Given the description of an element on the screen output the (x, y) to click on. 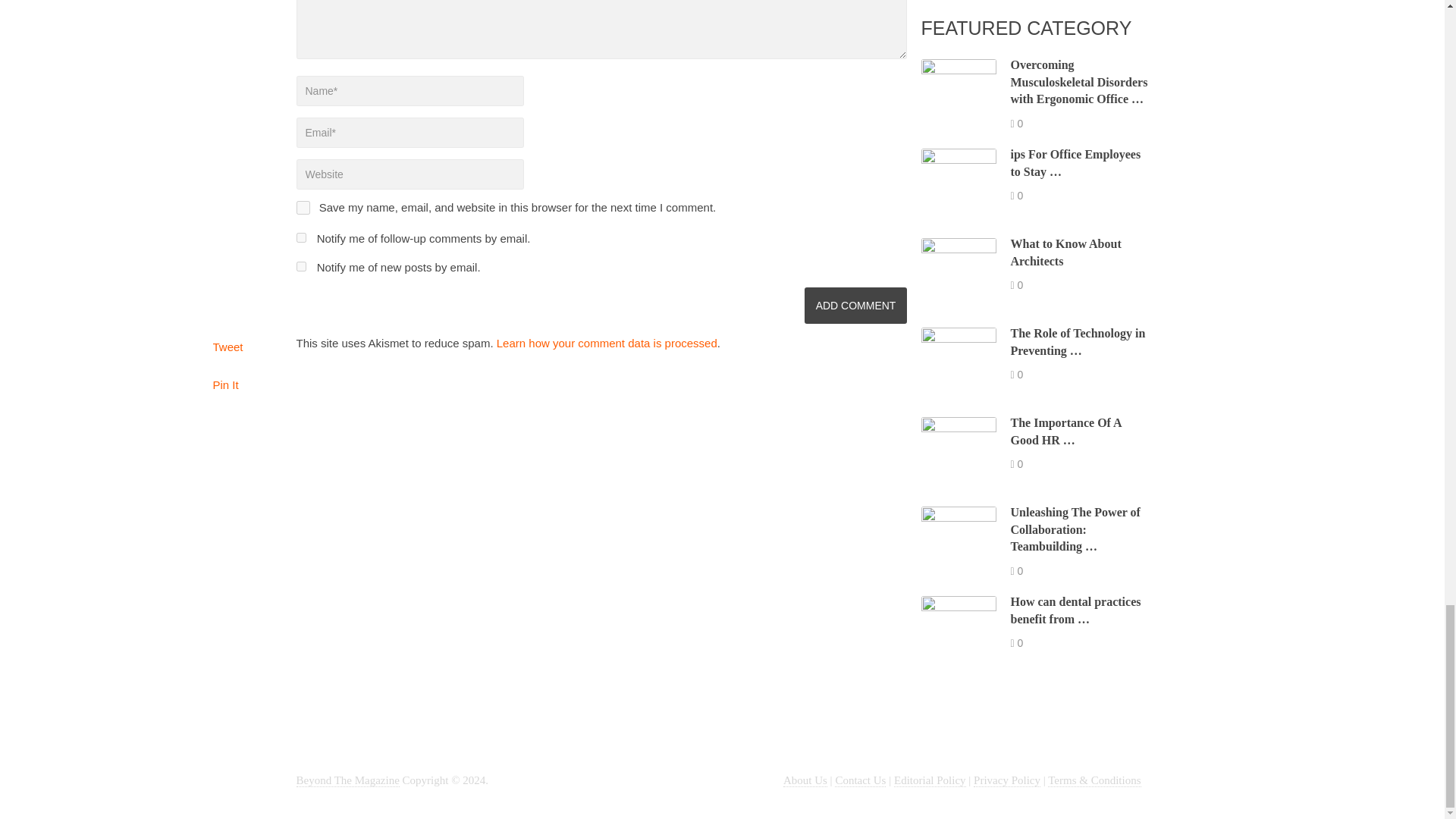
yes (301, 207)
Add Comment (856, 305)
subscribe (300, 266)
subscribe (300, 237)
